Given the description of an element on the screen output the (x, y) to click on. 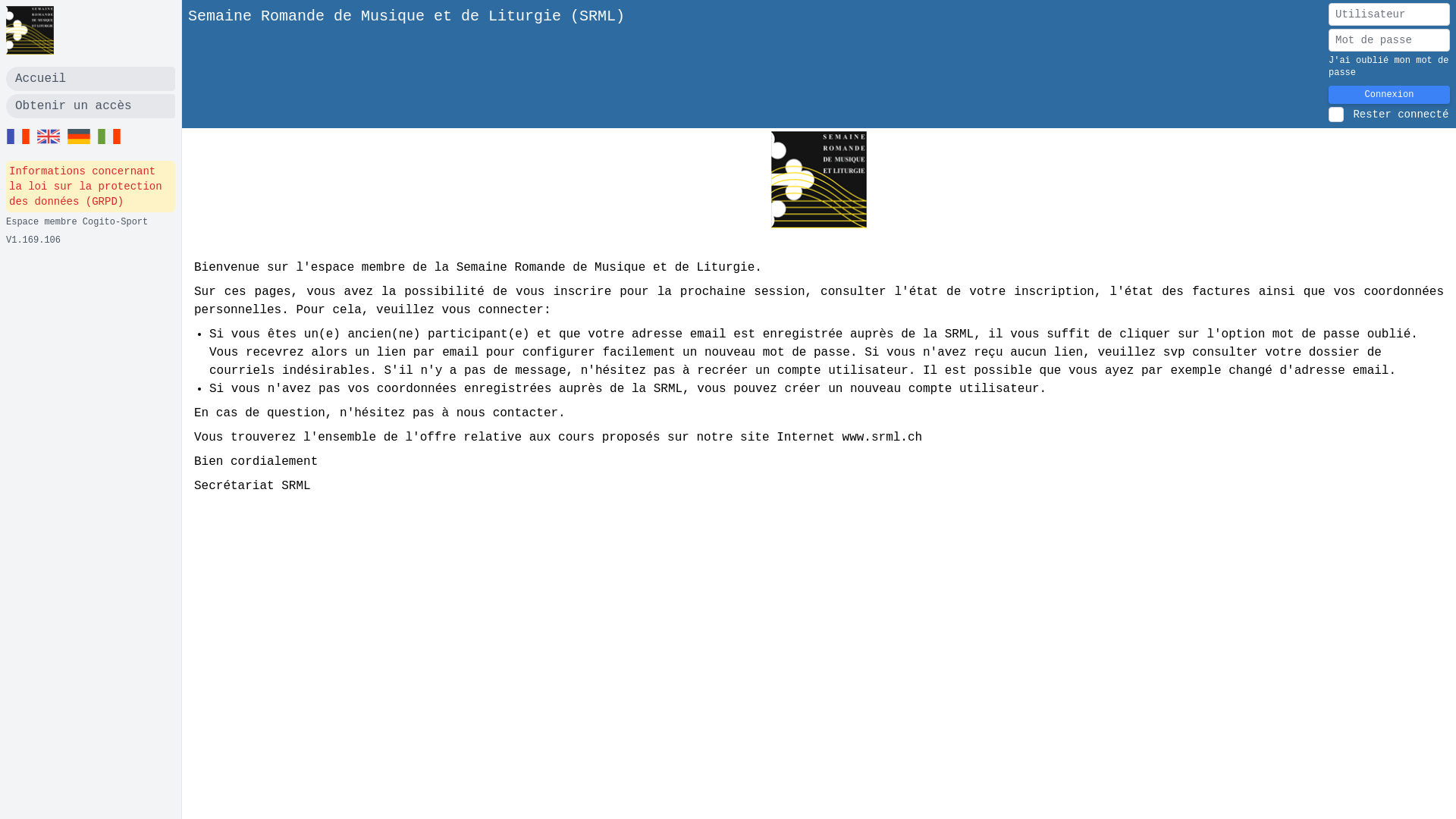
Connexion Element type: text (1388, 94)
Espace membre Cogito-Sport Element type: text (76, 221)
Semaine Romande de Musique et de Liturgie (SRML) Element type: text (406, 64)
Accueil Element type: text (90, 78)
